Given the description of an element on the screen output the (x, y) to click on. 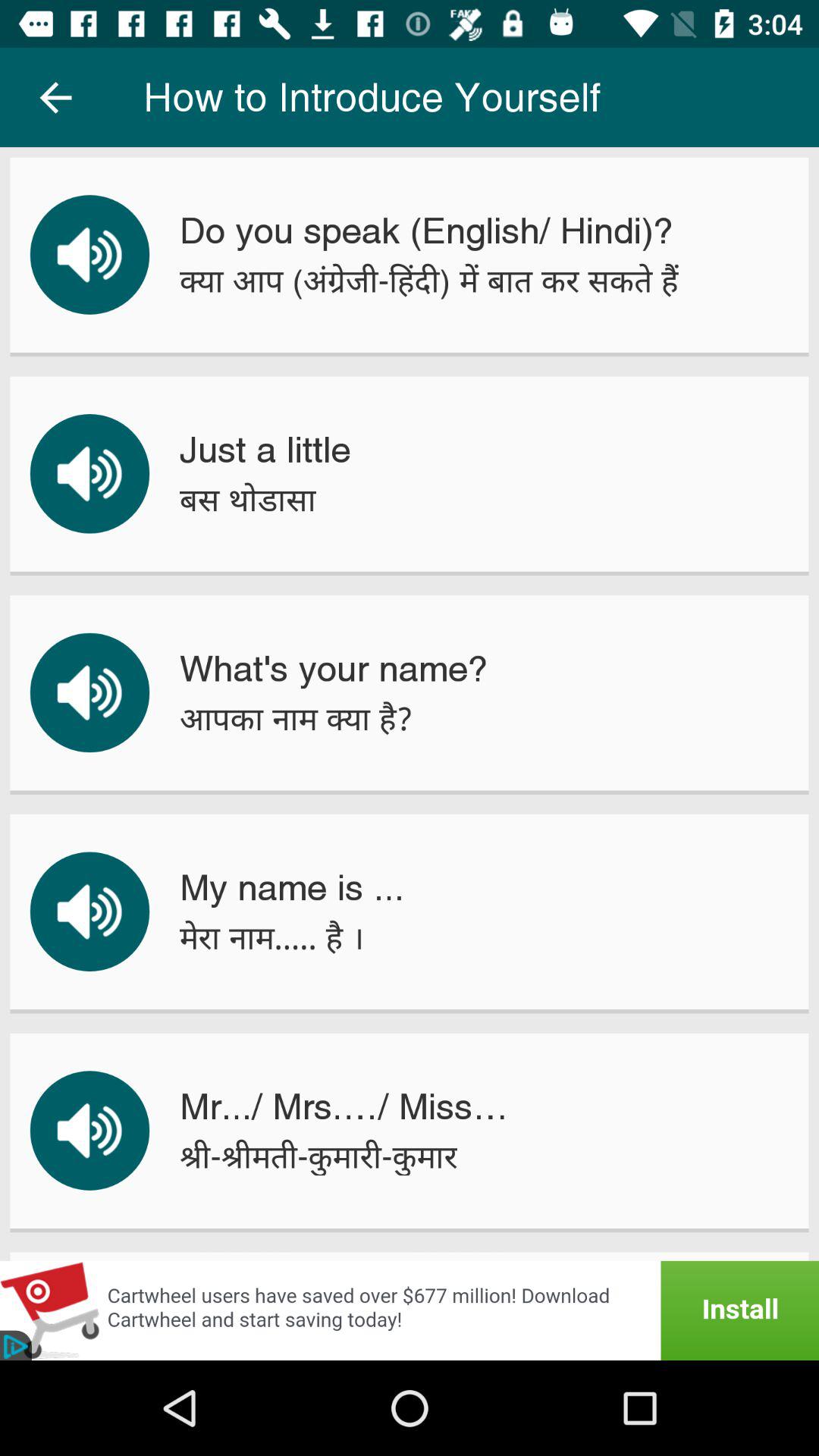
launch the item above the my name is ... icon (295, 718)
